Given the description of an element on the screen output the (x, y) to click on. 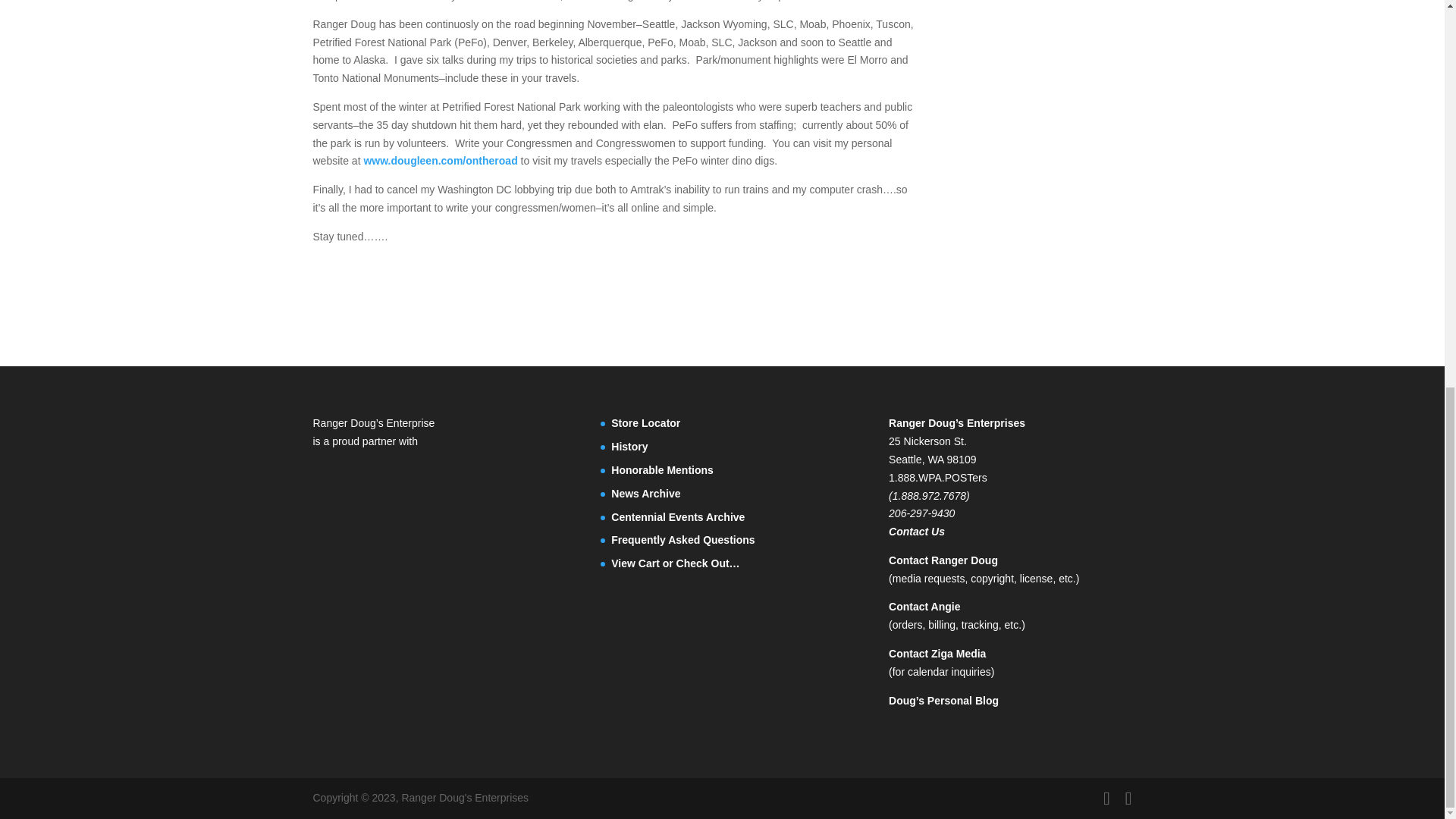
Honorable Mentions (662, 469)
Ranger Doug's NPS Centennial Roadtrip (677, 517)
History (629, 446)
Frequently Asked Questions (682, 539)
News Archive (645, 493)
Honorable Mentions (662, 469)
Store Locator (645, 422)
Contact Ranger Doug (942, 560)
Contact Angie (923, 606)
Contact Ziga Media (936, 653)
Centennial Events Archive (677, 517)
Contact Us (916, 531)
History (629, 446)
